Given the description of an element on the screen output the (x, y) to click on. 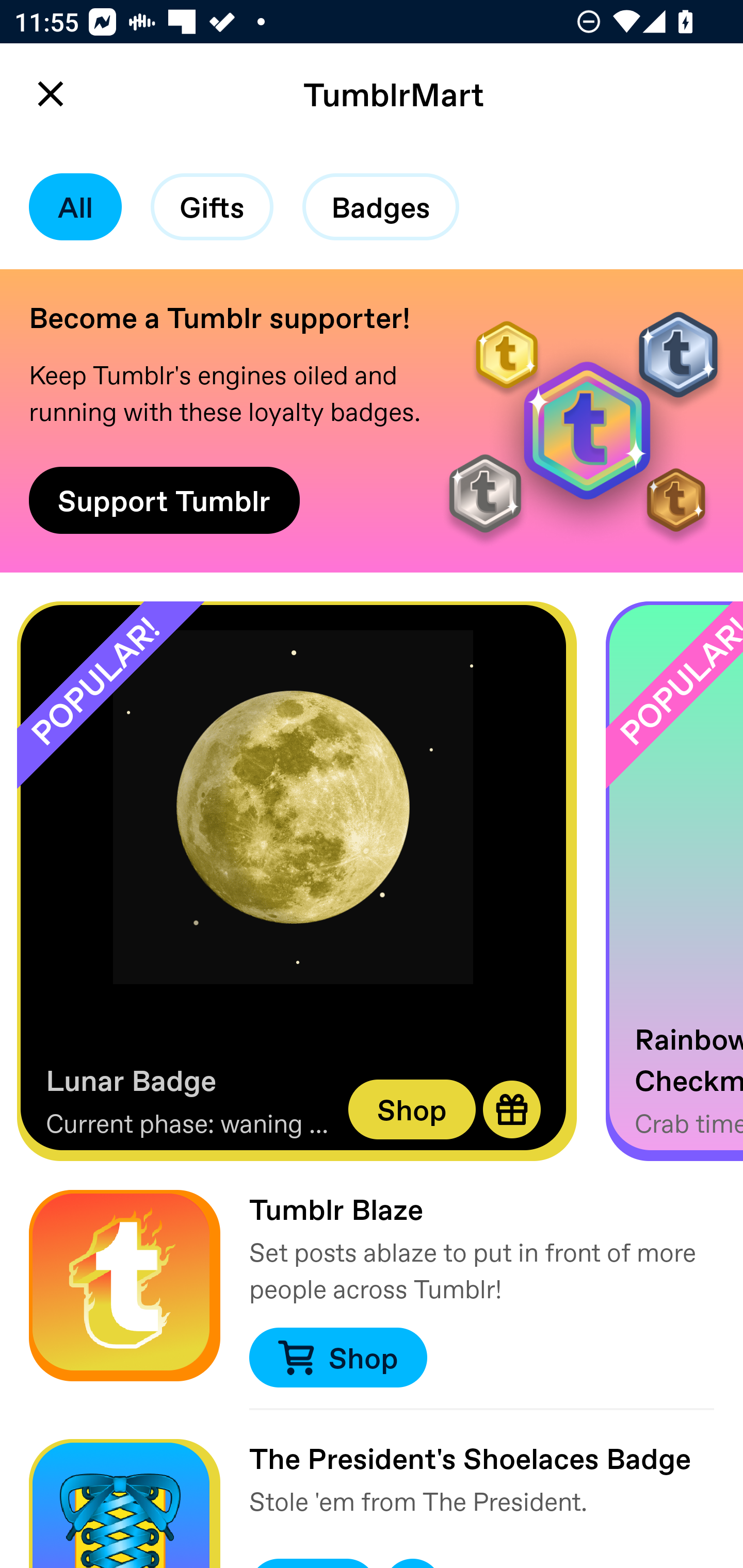
All (74, 206)
Gifts (211, 206)
Badges (380, 206)
Support Tumblr (163, 500)
Shop (411, 1108)
Shop (337, 1357)
